Given the description of an element on the screen output the (x, y) to click on. 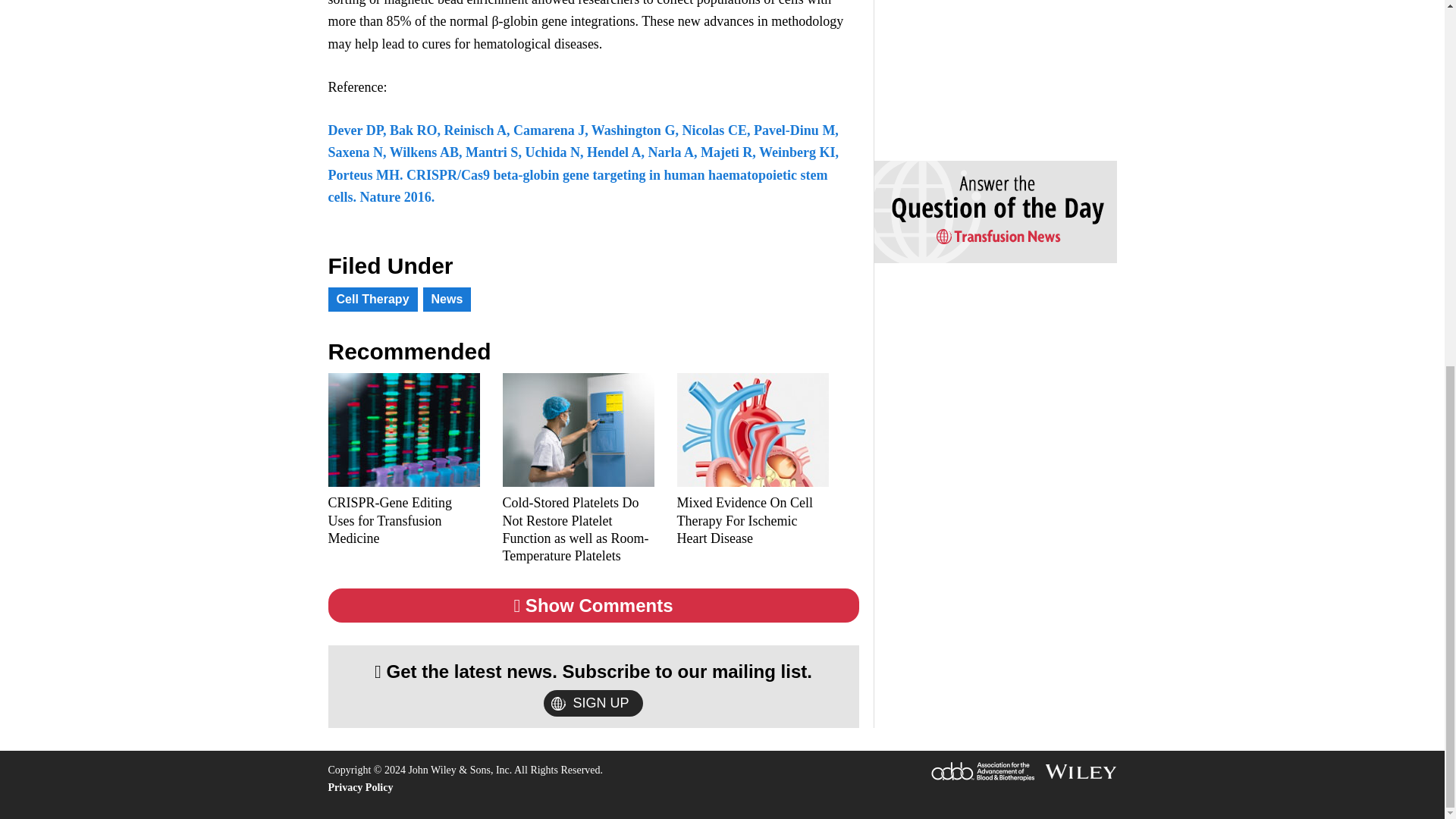
FDA Update about Bacterial Contamination of Platelets (577, 502)
Cell Therapy (371, 281)
News (447, 281)
Get the latest news. Subscribe to our mailing list. SIGN UP (593, 685)
